Given the description of an element on the screen output the (x, y) to click on. 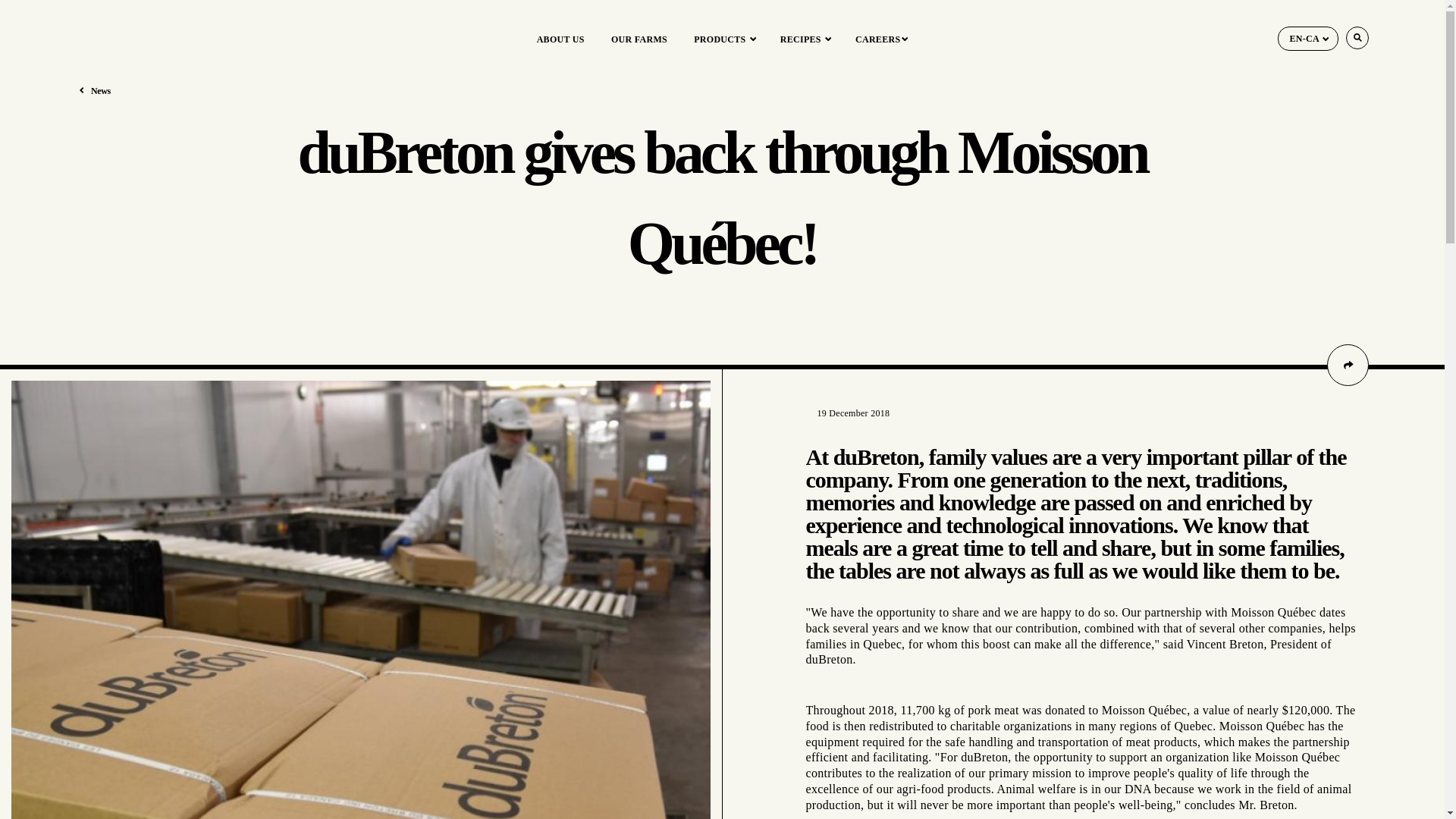
OUR FARMS (638, 38)
RECIPES (804, 38)
Toggle search (1358, 36)
CAREERS (881, 38)
News (100, 91)
PRODUCTS (723, 38)
Toggle search (1358, 36)
ABOUT US (561, 38)
